Given the description of an element on the screen output the (x, y) to click on. 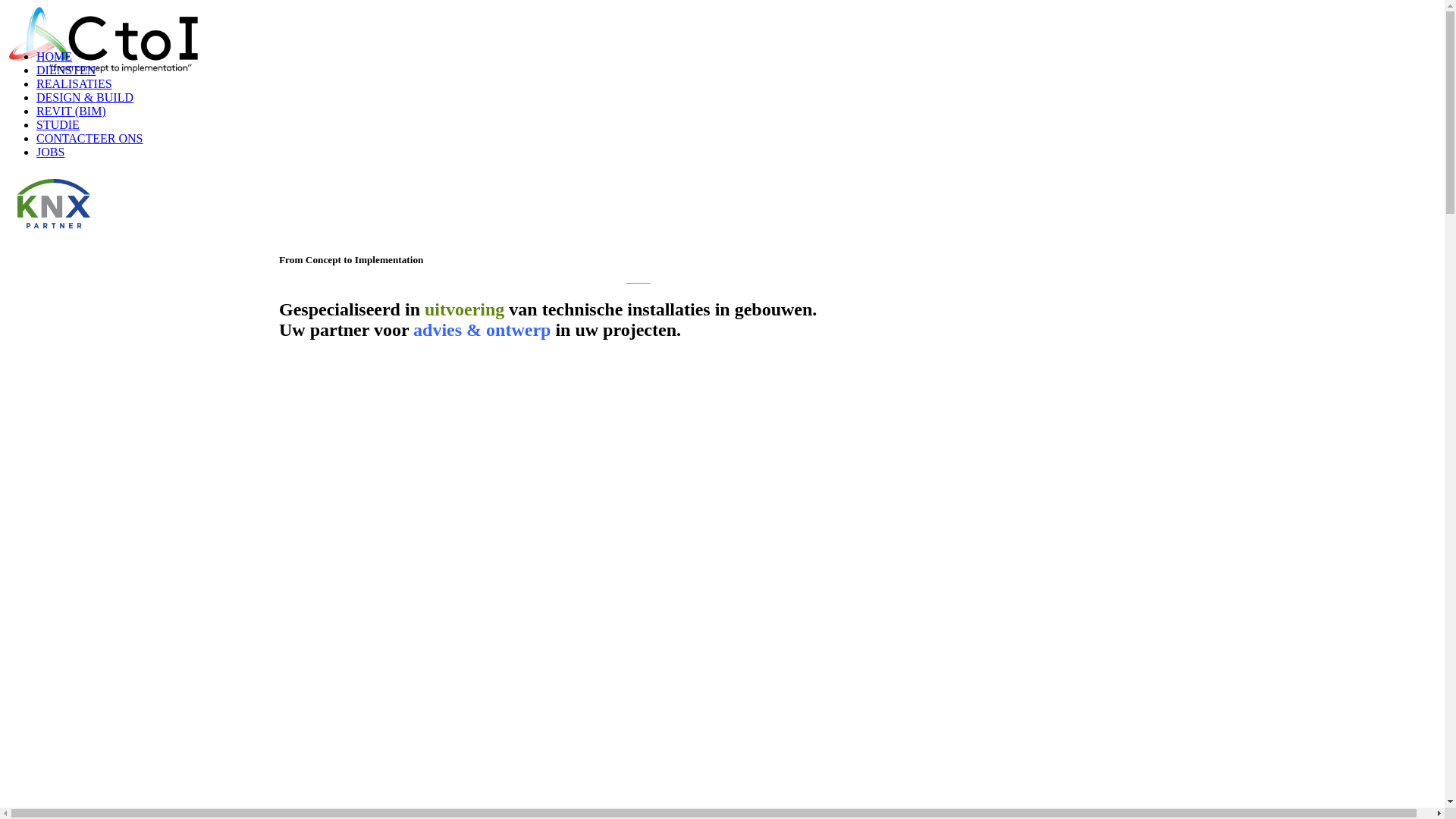
CONTACTEER ONS Element type: text (89, 137)
JOBS Element type: text (50, 151)
STUDIE Element type: text (57, 124)
DIENSTEN Element type: text (65, 69)
HOME Element type: text (54, 56)
REVIT (BIM) Element type: text (71, 110)
DESIGN & BUILD Element type: text (84, 97)
REALISATIES Element type: text (74, 83)
